Given the description of an element on the screen output the (x, y) to click on. 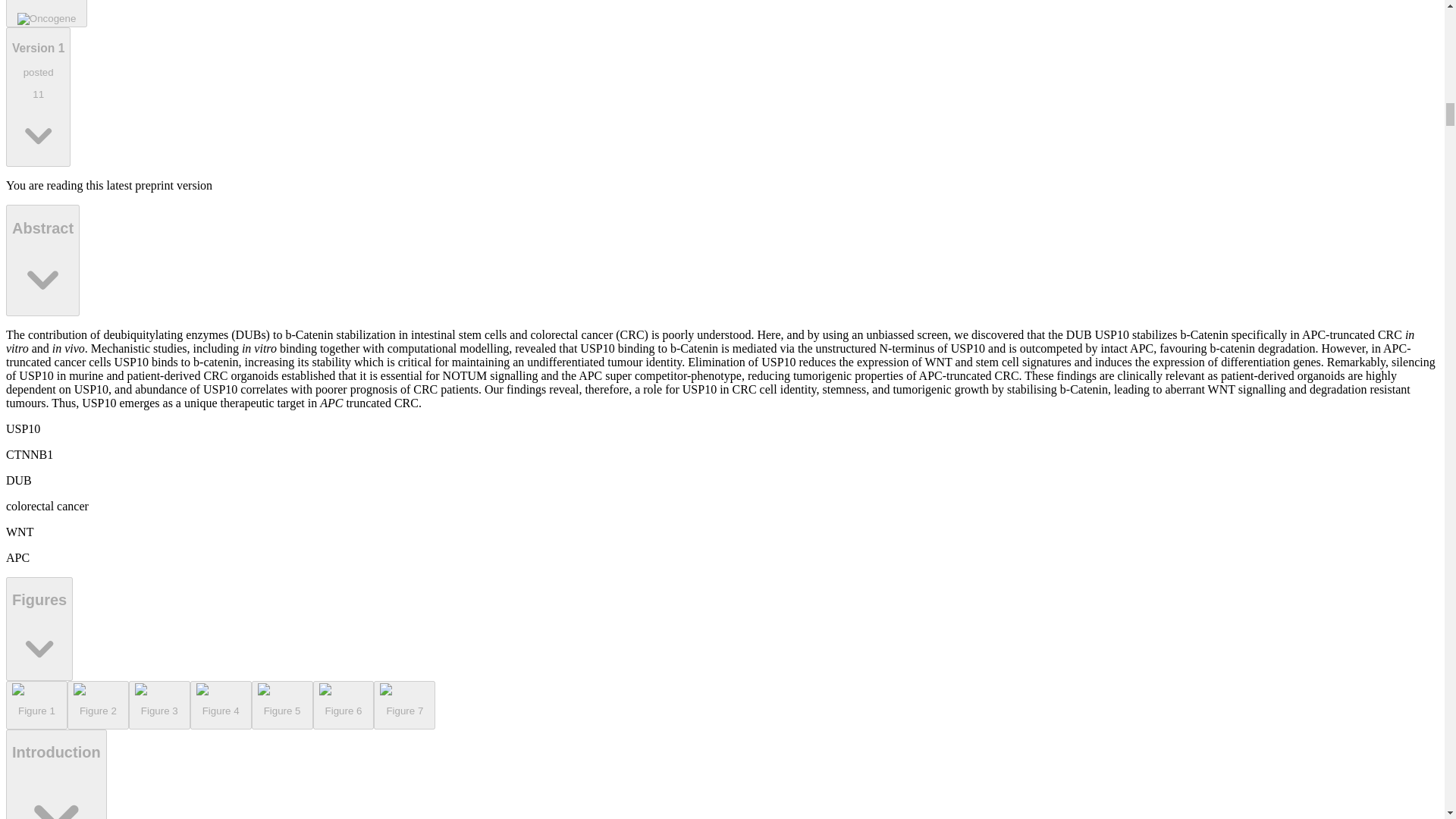
Figure 7 (404, 704)
Figure 5 (282, 704)
Figure 6 (343, 704)
Abstract (42, 259)
Introduction (55, 774)
Figure 3 (46, 13)
Figure 1 (159, 704)
Figure 4 (35, 704)
Figures (220, 704)
Figure 2 (38, 628)
